Given the description of an element on the screen output the (x, y) to click on. 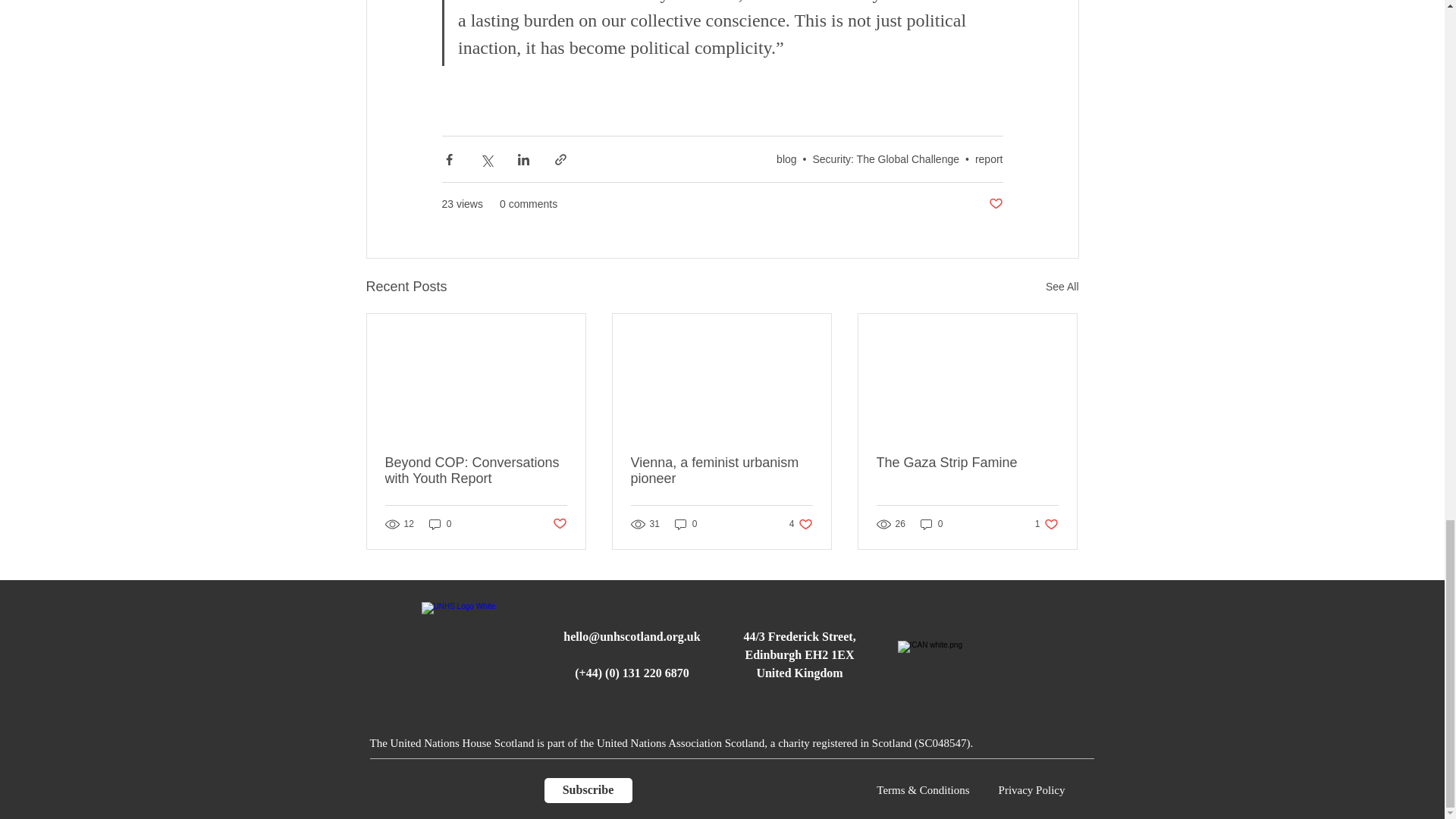
Partner-Nobel.png (970, 661)
